Given the description of an element on the screen output the (x, y) to click on. 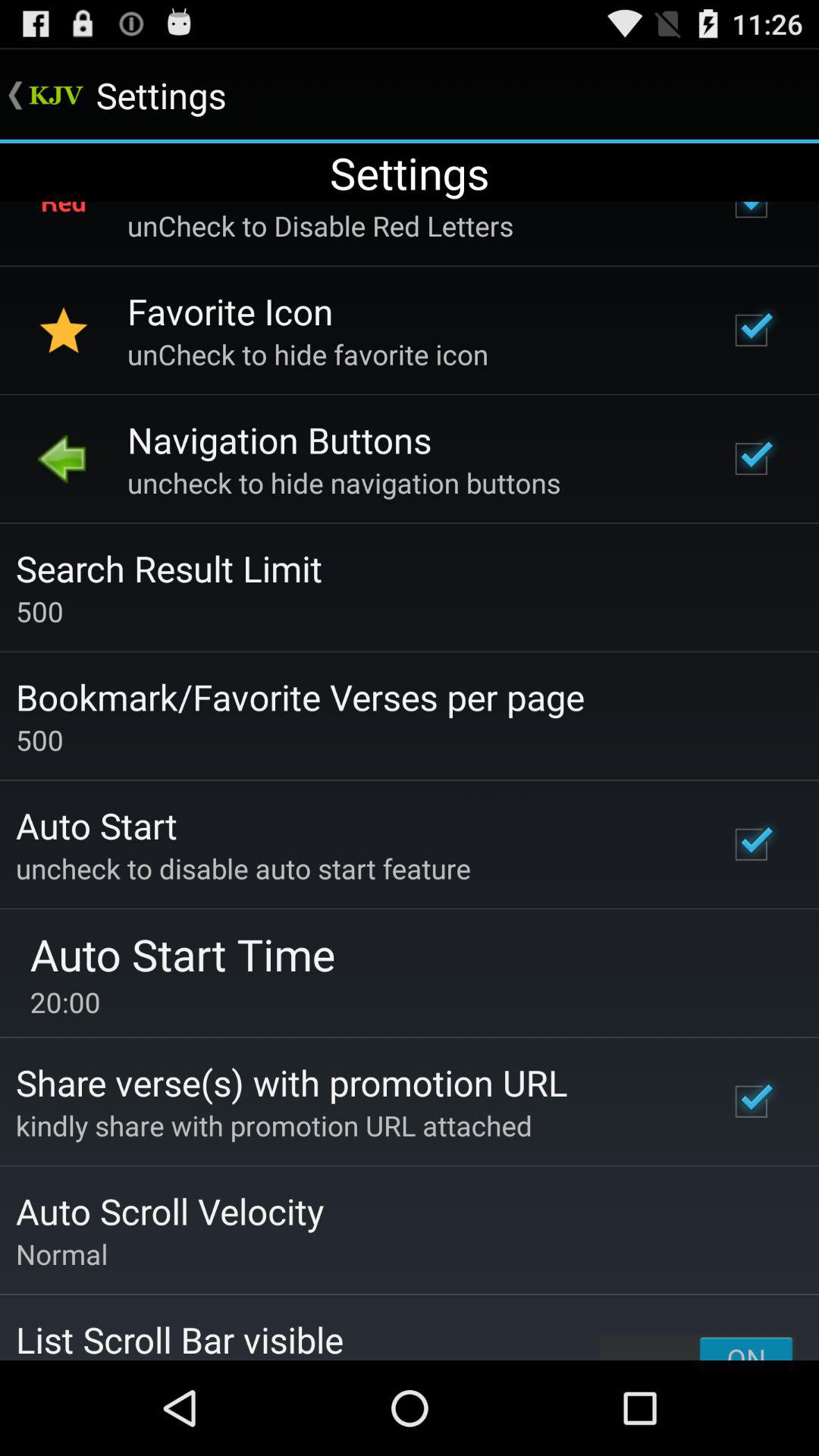
click the left arrow icon left to navigation buttons (63, 458)
click on the icon above star (63, 225)
select the star icon on the web page (63, 330)
